Given the description of an element on the screen output the (x, y) to click on. 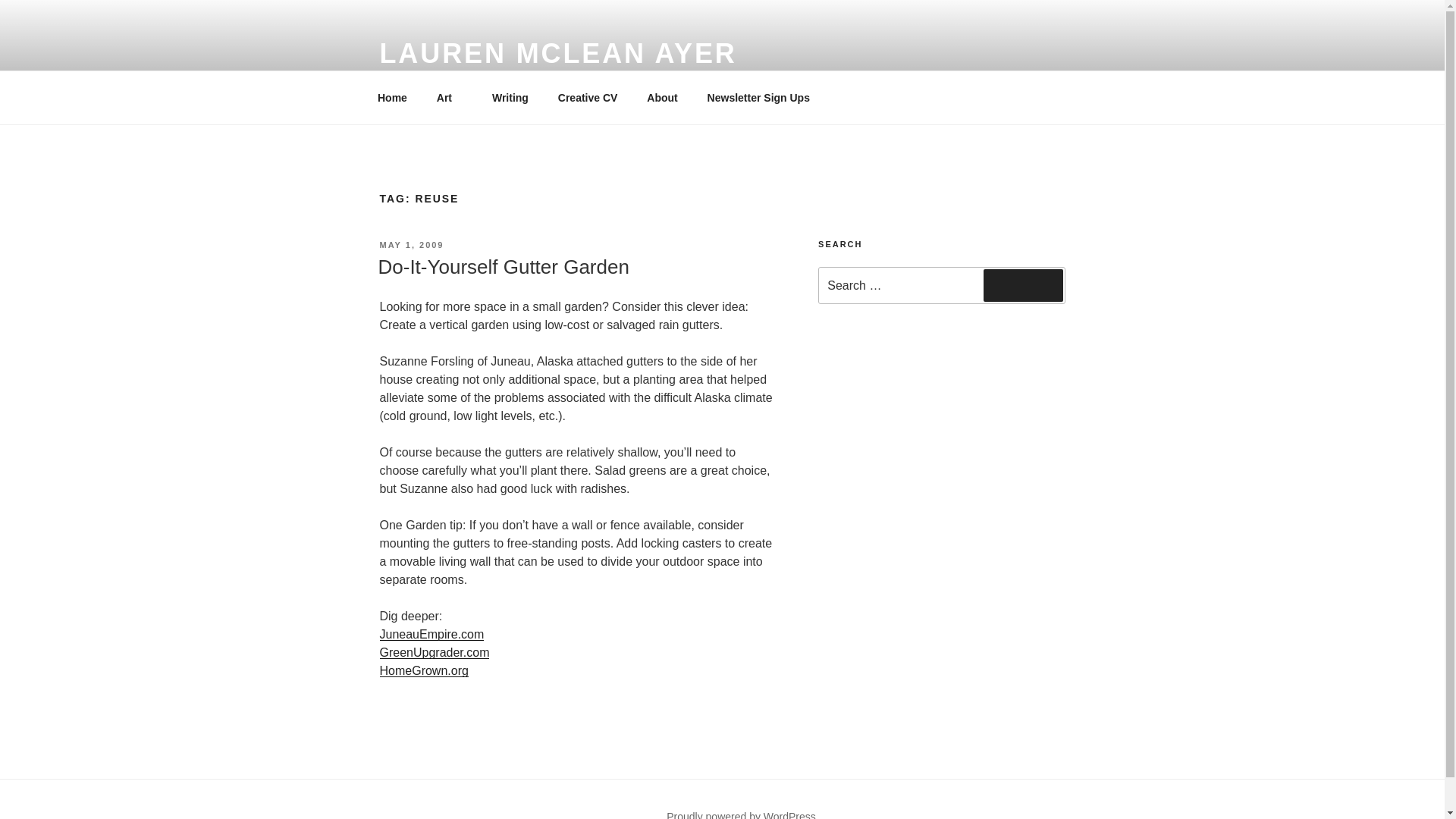
GreenUpgrader.com (433, 652)
JuneauEmpire.com (430, 634)
MAY 1, 2009 (411, 244)
Home (392, 97)
Proudly powered by WordPress (740, 814)
Art (449, 97)
Creative CV (587, 97)
Newsletter Sign Ups (758, 97)
Writing (510, 97)
Do-It-Yourself Gutter Garden (502, 266)
